Given the description of an element on the screen output the (x, y) to click on. 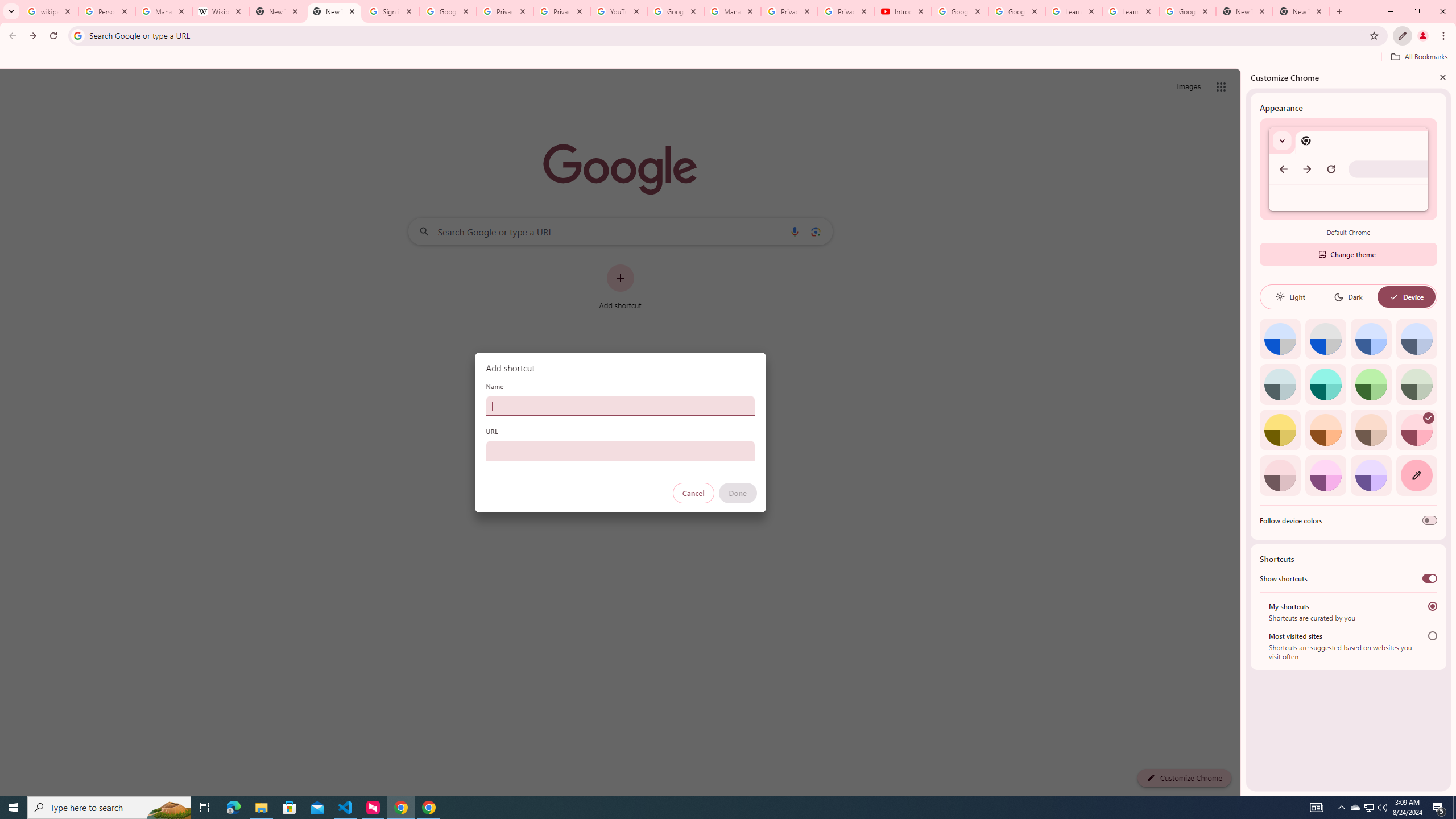
Google Drive: Sign-in (447, 11)
AutomationID: svg (1428, 417)
Viridian (1416, 383)
Light (1289, 296)
Apricot (1371, 429)
Google Account Help (1015, 11)
Cool grey (1416, 338)
